Given the description of an element on the screen output the (x, y) to click on. 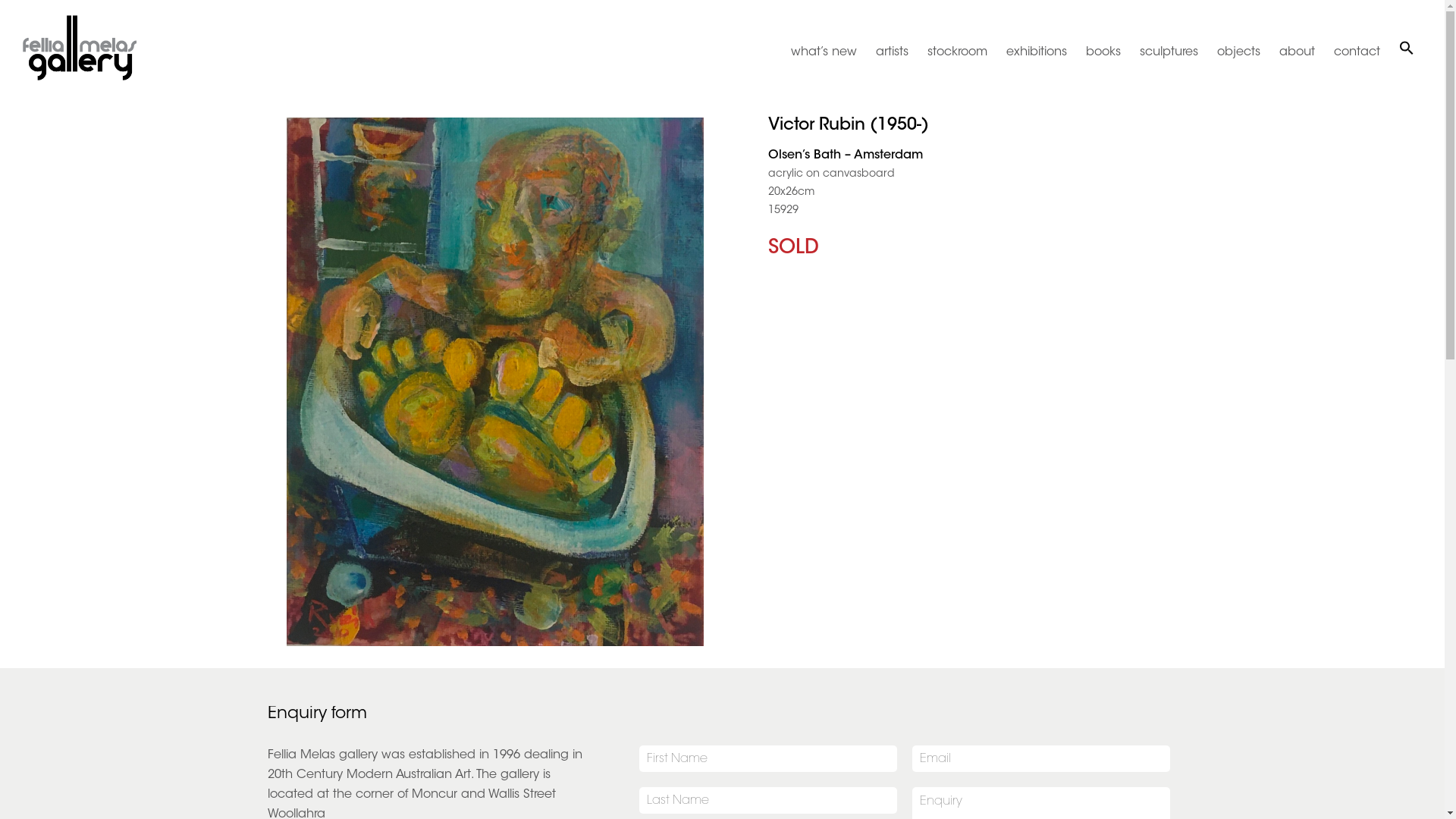
books Element type: text (1103, 52)
exhibitions Element type: text (1036, 52)
about Element type: text (1296, 52)
stockroom Element type: text (956, 52)
objects Element type: text (1238, 52)
artists Element type: text (892, 52)
sculptures Element type: text (1168, 52)
contact Element type: text (1356, 52)
